Given the description of an element on the screen output the (x, y) to click on. 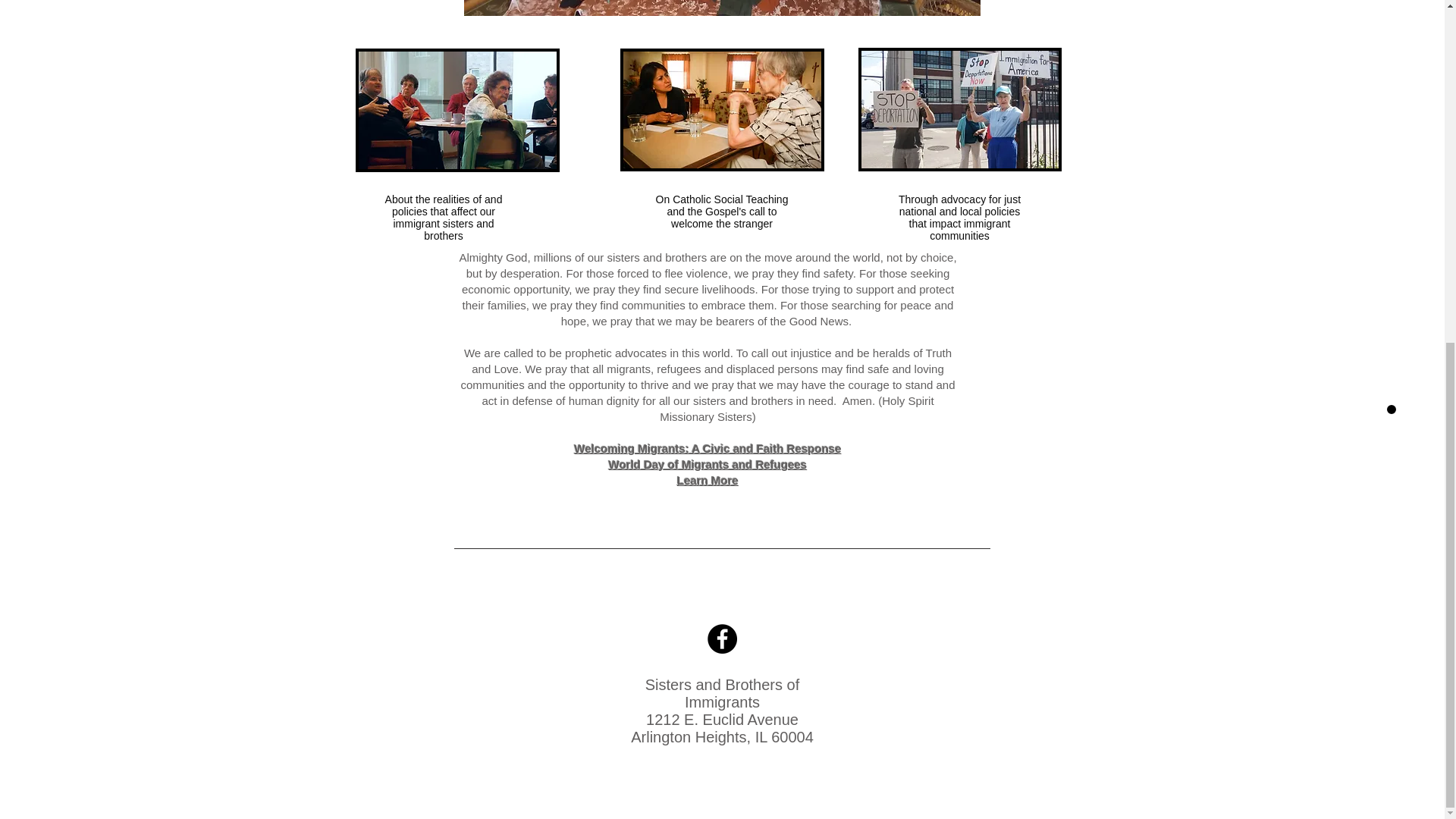
Edited Image 2016-01-23 22-44-16 (457, 109)
Welcoming Migrants: A Civic and Faith Response (708, 448)
Learn More (707, 480)
